Given the description of an element on the screen output the (x, y) to click on. 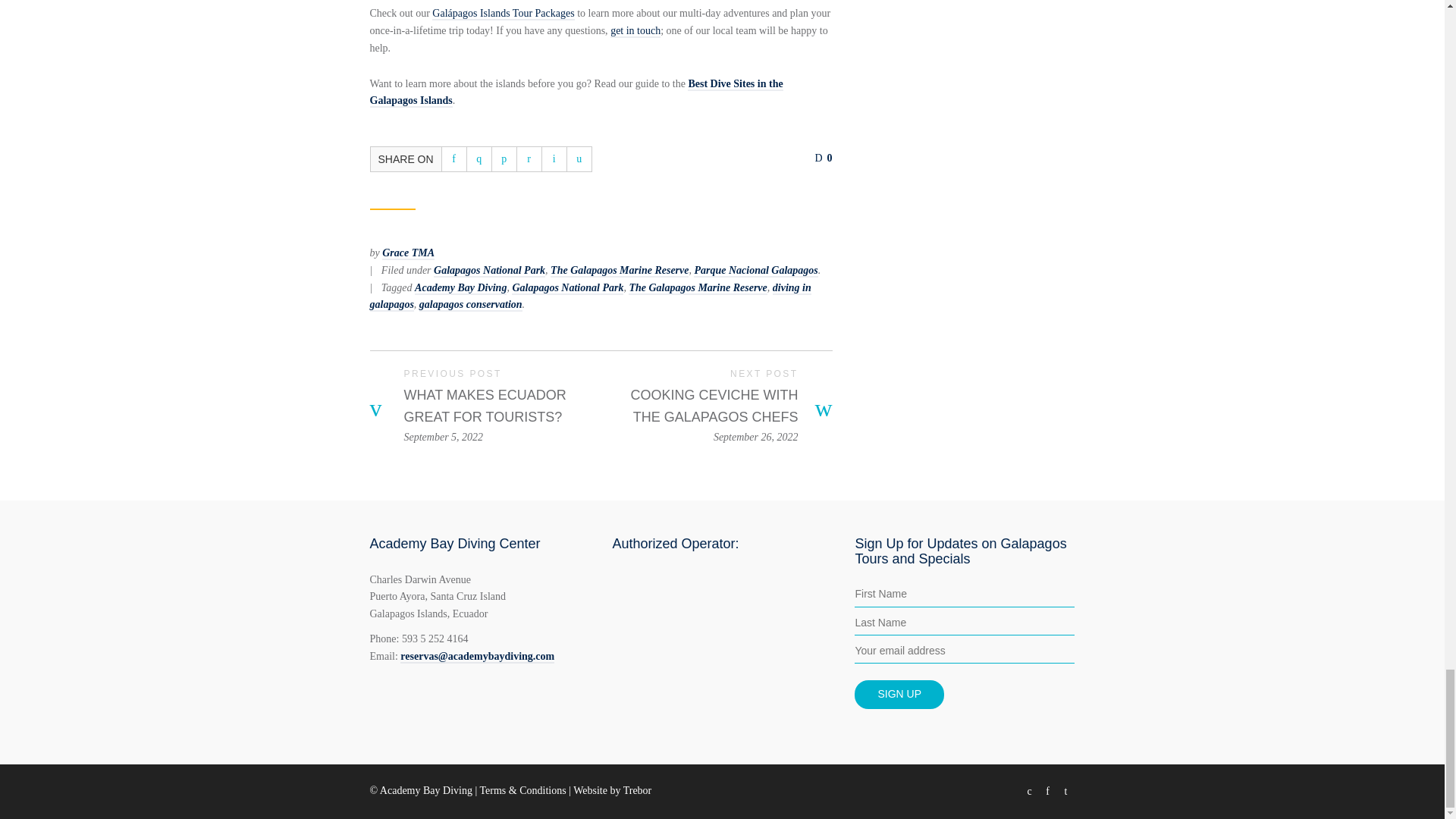
Sign up (898, 694)
Posts by Grace TMA (407, 253)
